Given the description of an element on the screen output the (x, y) to click on. 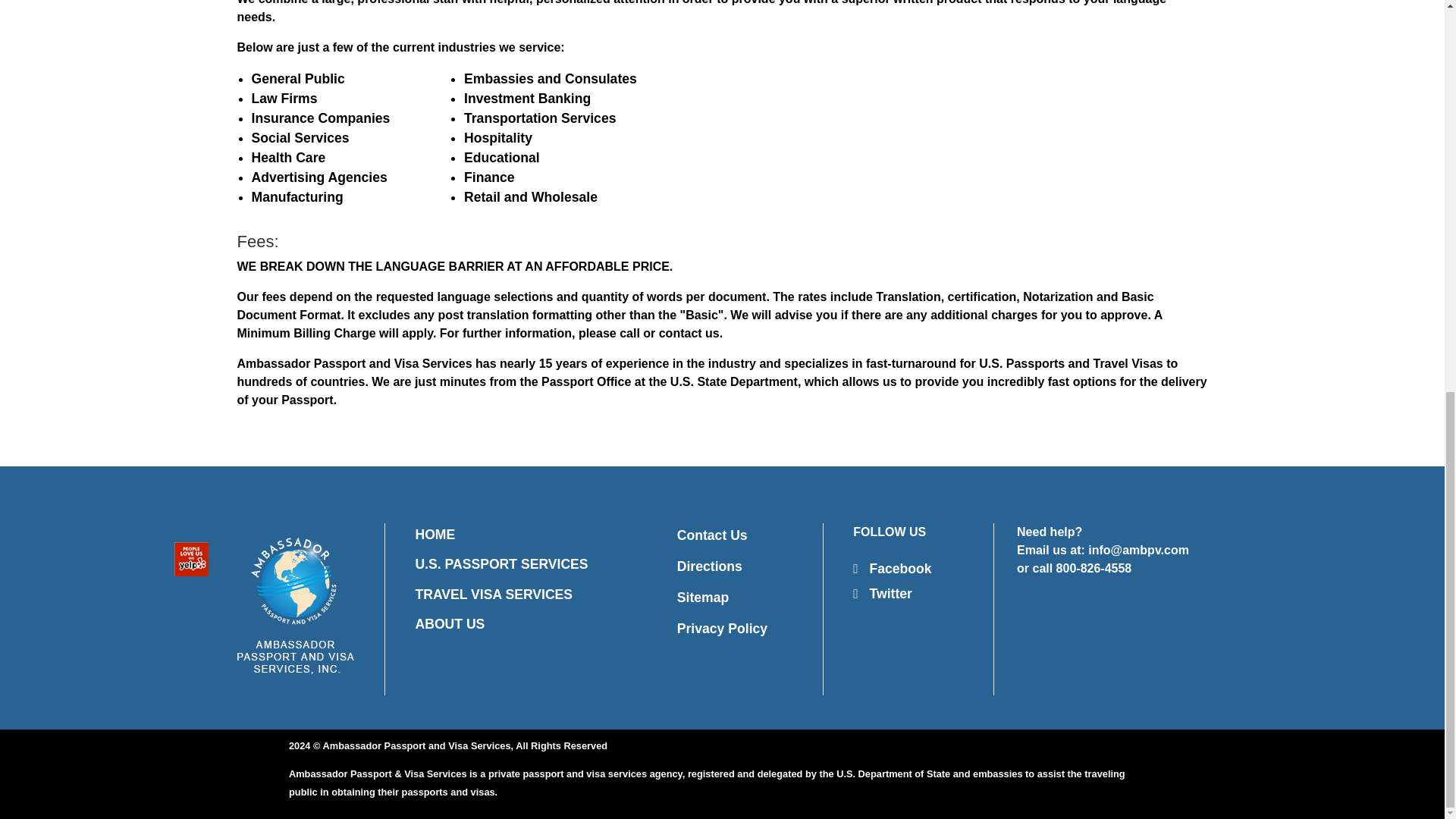
Opens in a new window (892, 568)
Opens in a new window (709, 566)
Opens in a new window (882, 593)
